Given the description of an element on the screen output the (x, y) to click on. 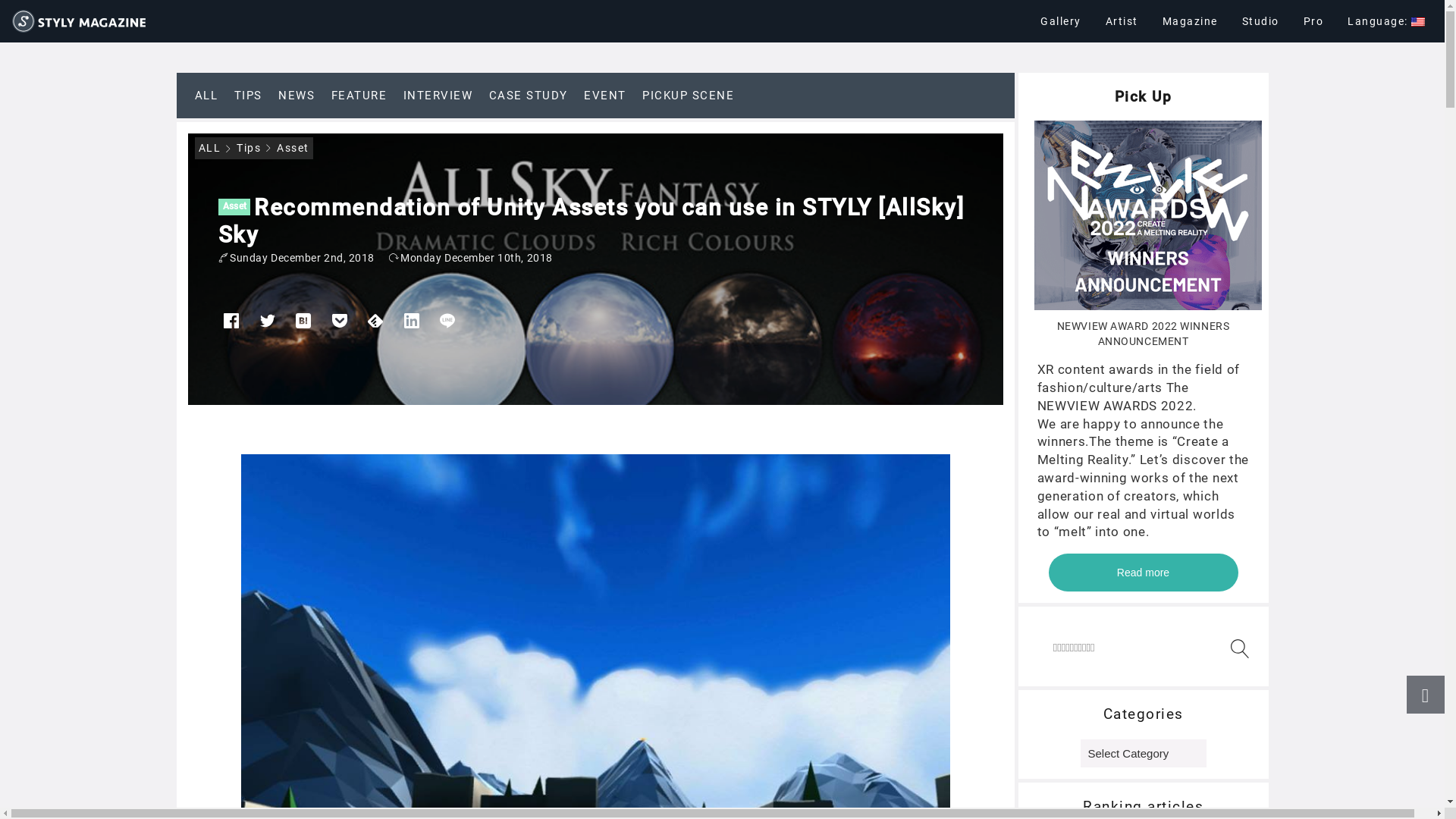
LinkedIn icon Element type: text (411, 326)
Feedly icon Element type: text (375, 326)
Magazine Element type: text (1189, 21)
PICKUP SCENE Element type: text (688, 95)
Tips Element type: text (248, 147)
Asset Element type: text (292, 147)
ALL Element type: text (209, 147)
Line icon Element type: text (446, 326)
Language:  Element type: text (1386, 21)
Pro Element type: text (1312, 21)
Facebook icon Element type: text (231, 326)
ALL Element type: text (205, 95)
Twitter icon Element type: text (267, 326)
Studio Element type: text (1260, 21)
FEATURE Element type: text (358, 95)
TIPS Element type: text (247, 95)
EVENT Element type: text (604, 95)
Gallery Element type: text (1060, 21)
Hatena Bookmark icon Element type: text (302, 326)
Read more Element type: text (1142, 572)
NEWS Element type: text (296, 95)
Read more Element type: text (1142, 572)
Artist Element type: text (1121, 21)
Asset Element type: text (234, 205)
INTERVIEW Element type: text (438, 95)
Pocket icon Element type: text (339, 326)
CASE STUDY Element type: text (527, 95)
